Given the description of an element on the screen output the (x, y) to click on. 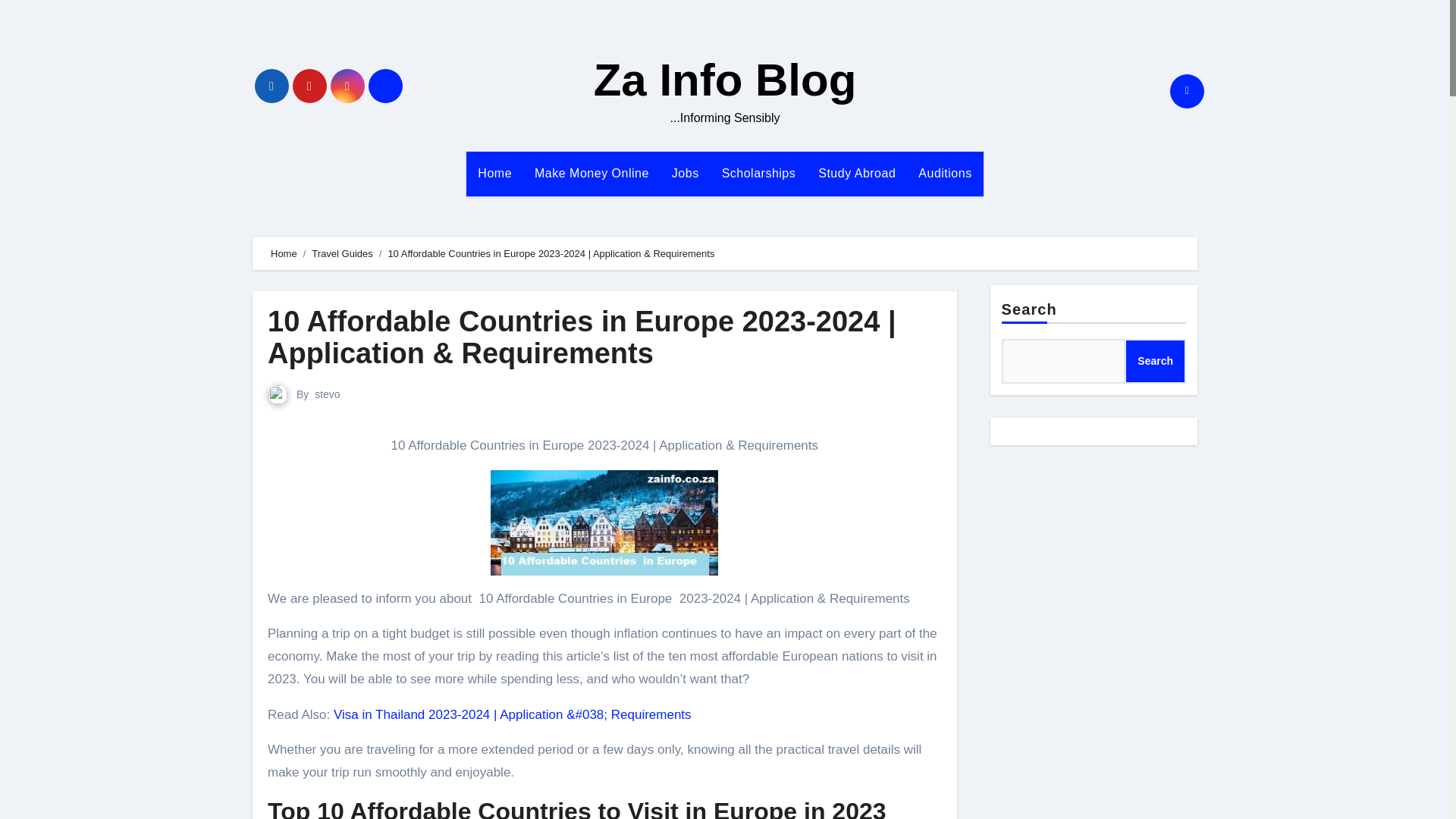
Za Info Blog (725, 79)
Make Money Online (591, 173)
Home (493, 173)
Home (493, 173)
Make Money Online (591, 173)
Home (283, 253)
Travel Guides (341, 253)
Scholarships (759, 173)
Study Abroad (856, 173)
Scholarships (759, 173)
Jobs (685, 173)
Auditions (944, 173)
stevo (326, 394)
Jobs (685, 173)
Study Abroad (856, 173)
